Given the description of an element on the screen output the (x, y) to click on. 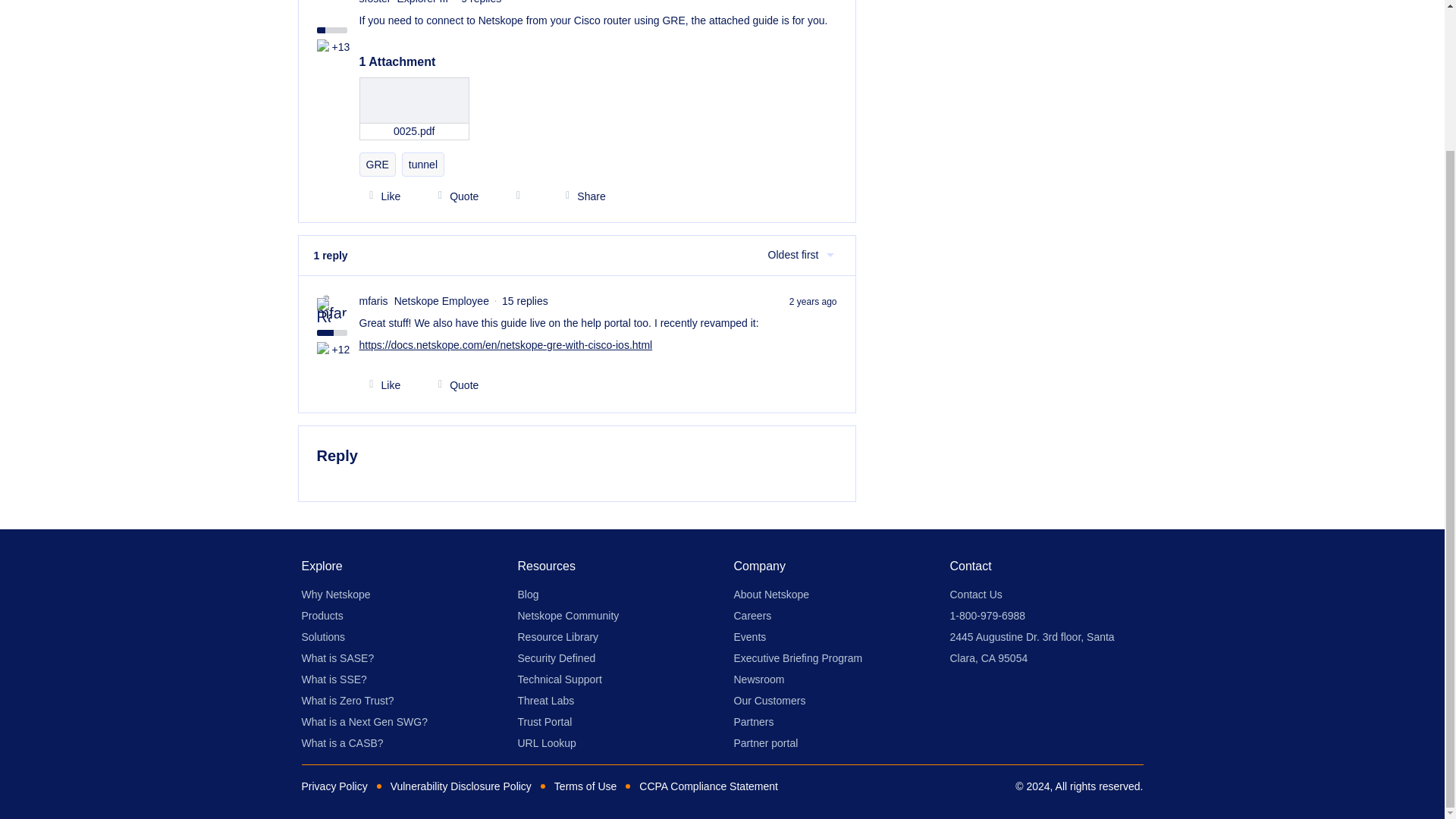
Quote (453, 196)
Solutions - 2 (324, 46)
mfaris (373, 301)
Shared Images - 1 (324, 349)
Like (380, 196)
Quote (453, 385)
Netskope Employee (323, 310)
Why Netskope (336, 594)
0025.pdf (414, 108)
GRE (377, 164)
mfaris (373, 301)
sfoster (375, 3)
Like (380, 385)
sfoster (375, 3)
2 years ago (813, 300)
